Given the description of an element on the screen output the (x, y) to click on. 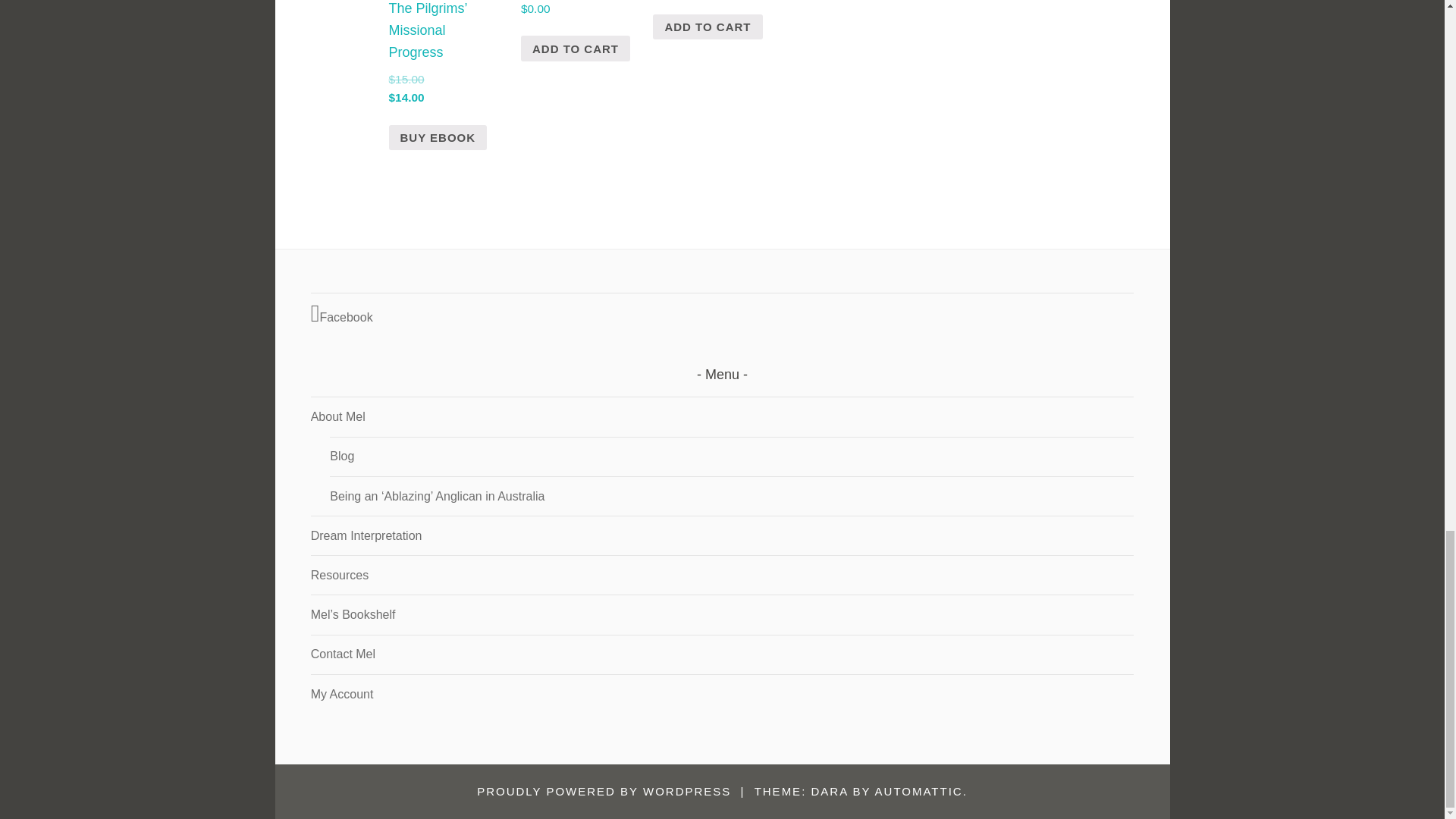
Visit  on Facebook (722, 314)
ADD TO CART (575, 48)
ADD TO CART (706, 27)
BUY EBOOK (437, 137)
